Given the description of an element on the screen output the (x, y) to click on. 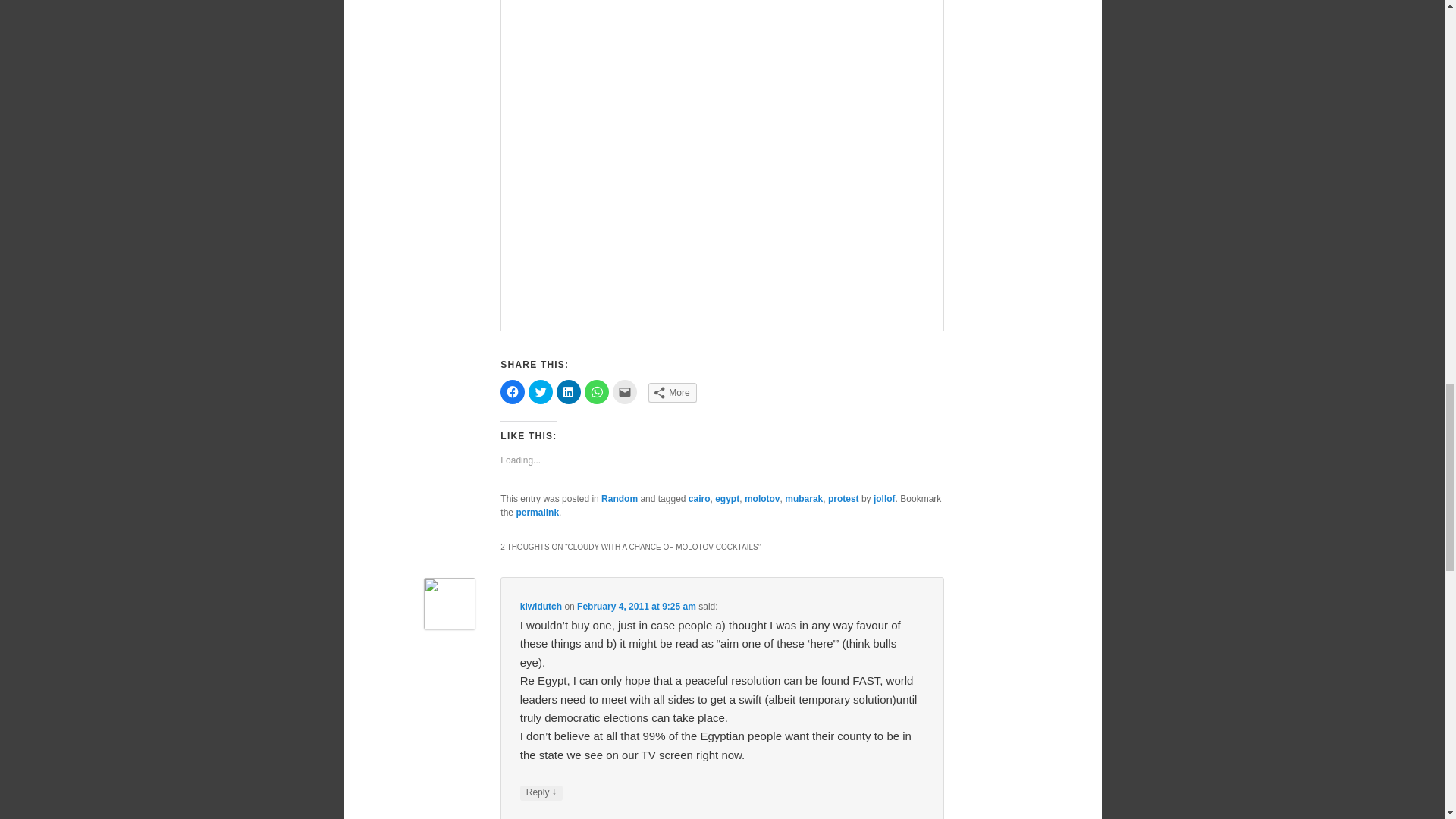
cairo (699, 498)
permalink (537, 511)
protest (843, 498)
February 4, 2011 at 9:25 am (635, 606)
jollof (884, 498)
Click to email this to a friend (624, 392)
molotov (762, 498)
kiwidutch (540, 606)
Click to share on Facebook (512, 392)
